Given the description of an element on the screen output the (x, y) to click on. 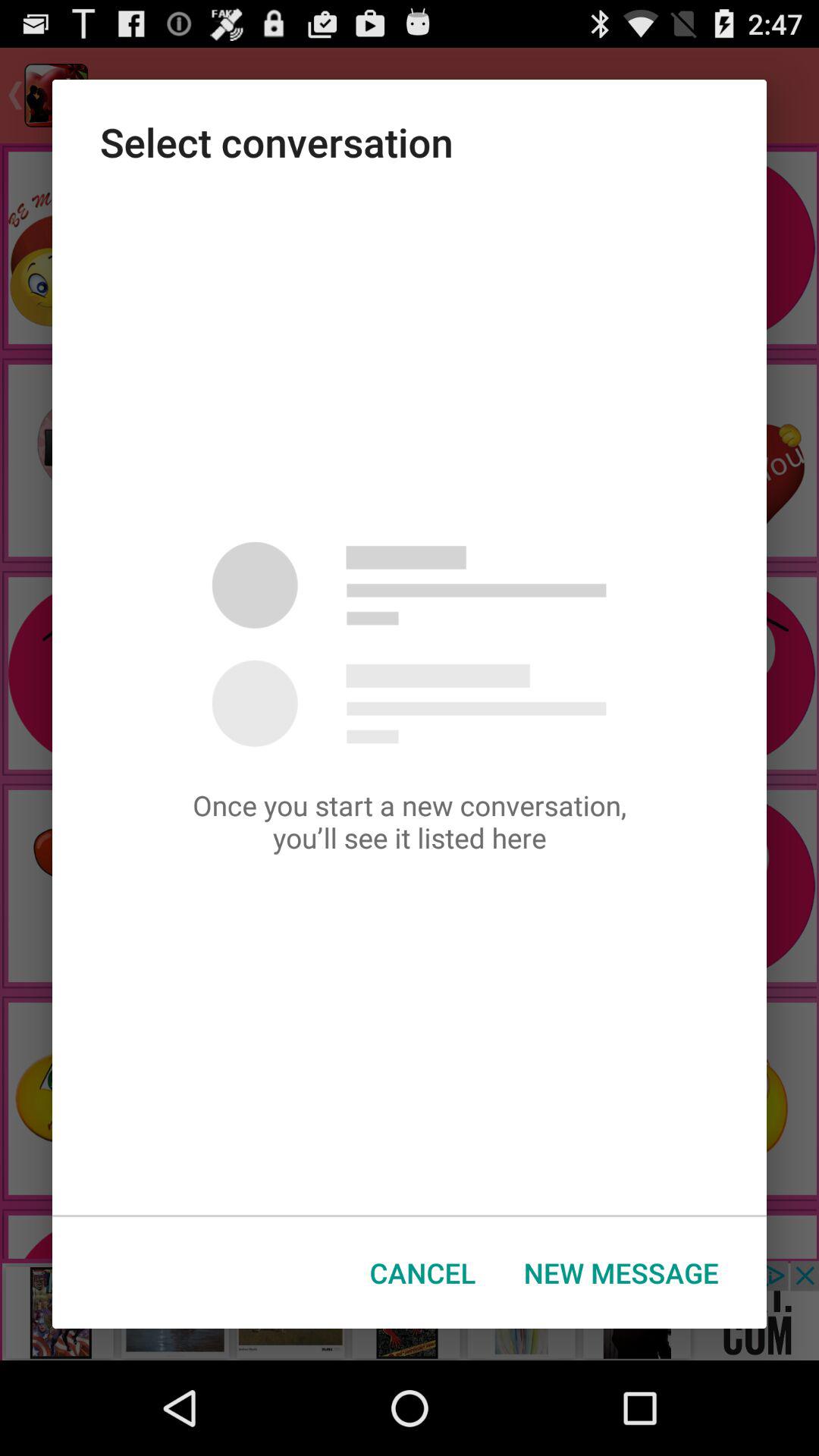
open the button at the bottom right corner (620, 1272)
